Given the description of an element on the screen output the (x, y) to click on. 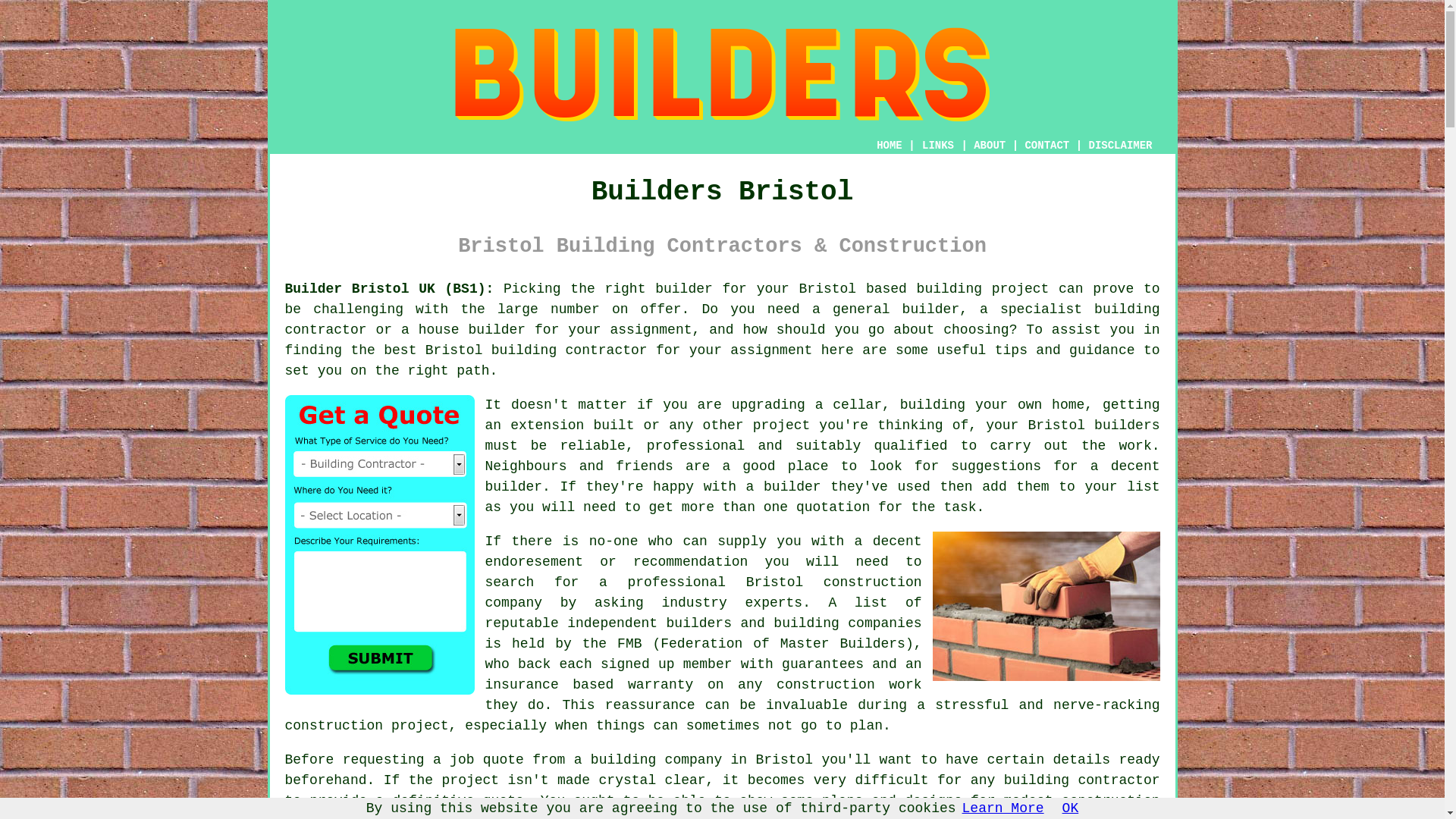
Builders Bristol (721, 74)
LINKS (938, 145)
HOME (889, 145)
